Given the description of an element on the screen output the (x, y) to click on. 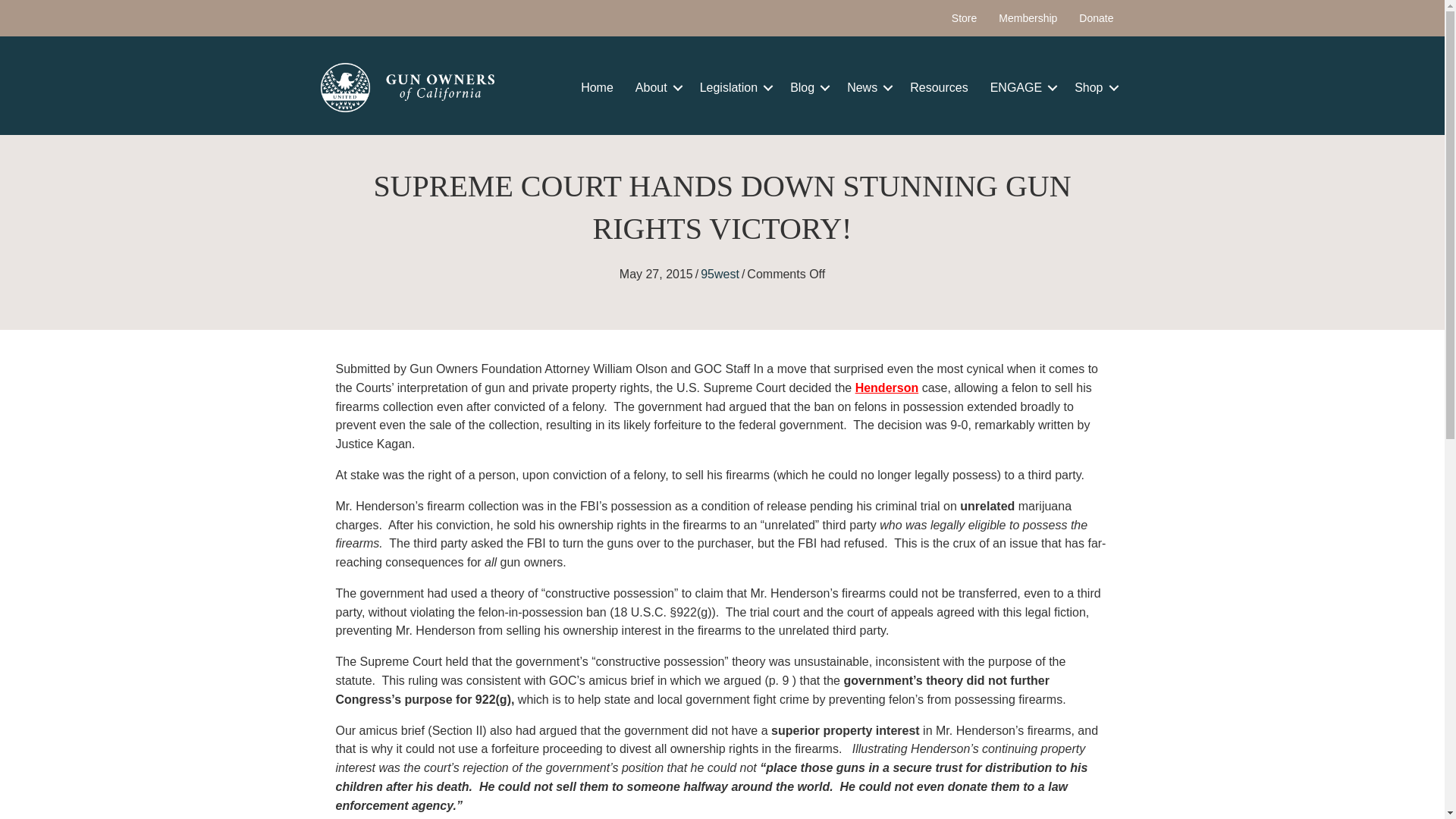
Donate (1096, 18)
Resources (938, 87)
logo (407, 87)
Membership (1027, 18)
News (866, 87)
Legislation (733, 87)
Store (963, 18)
Blog (806, 87)
About (656, 87)
ENGAGE (1020, 87)
Home (597, 87)
